Given the description of an element on the screen output the (x, y) to click on. 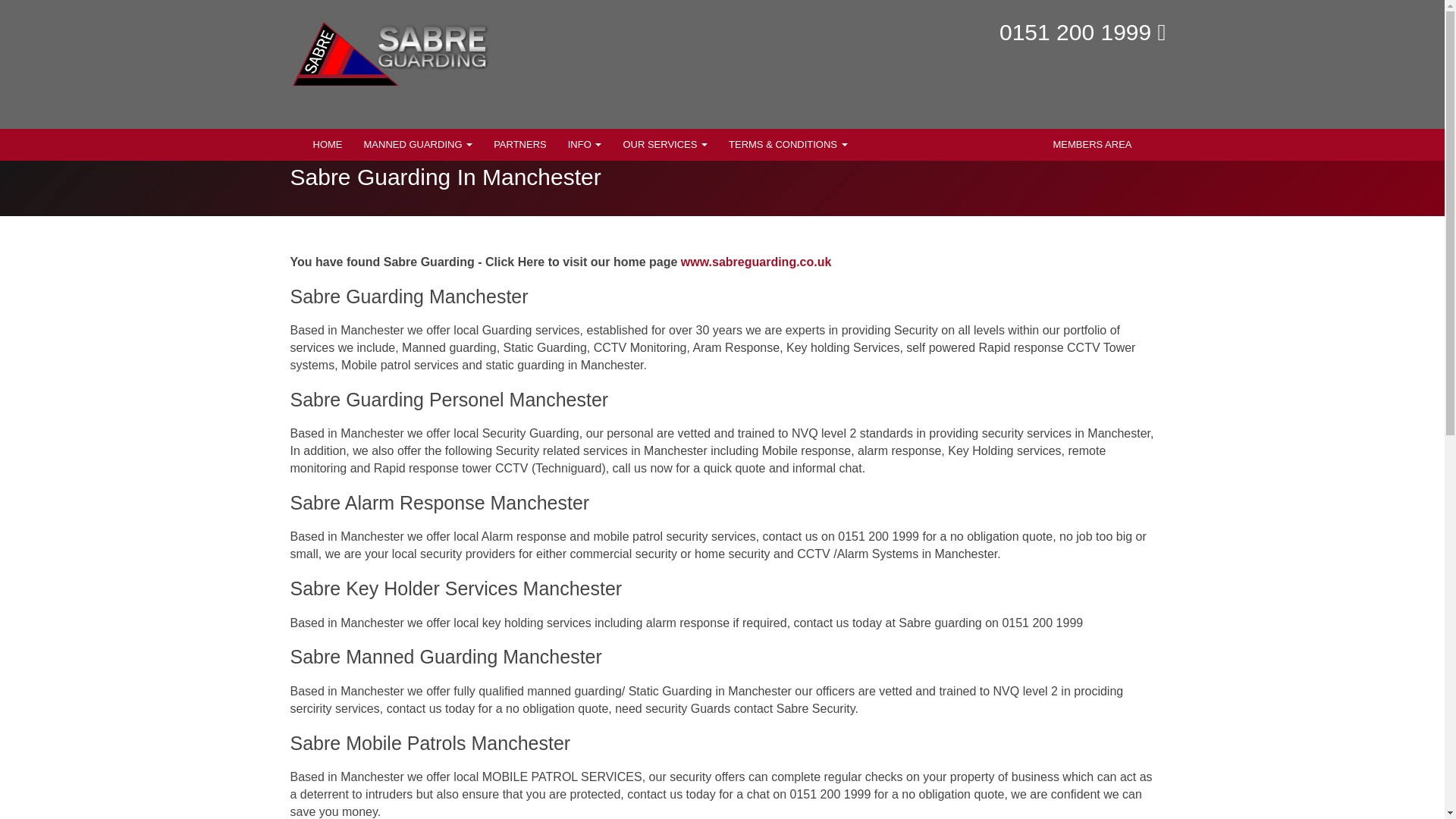
MEMBERS AREA (1091, 144)
OUR SERVICES (664, 144)
HOME (326, 144)
INFO (584, 144)
0151 200 1999 (1074, 32)
www.sabreguarding.co.uk (756, 261)
MANNED GUARDING (418, 144)
PARTNERS (520, 144)
